Given the description of an element on the screen output the (x, y) to click on. 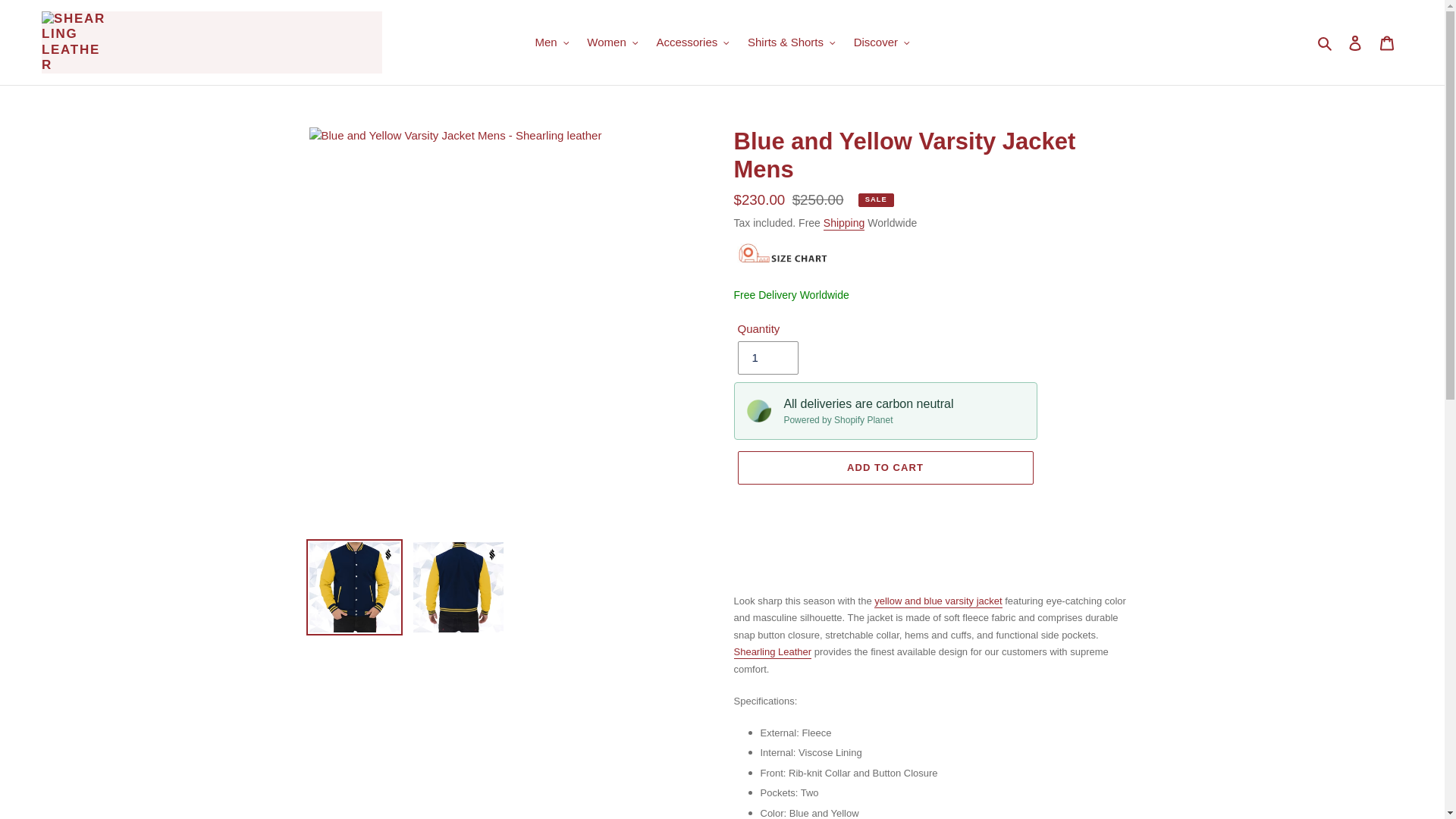
Men (551, 42)
Women (612, 42)
1 (766, 357)
